Given the description of an element on the screen output the (x, y) to click on. 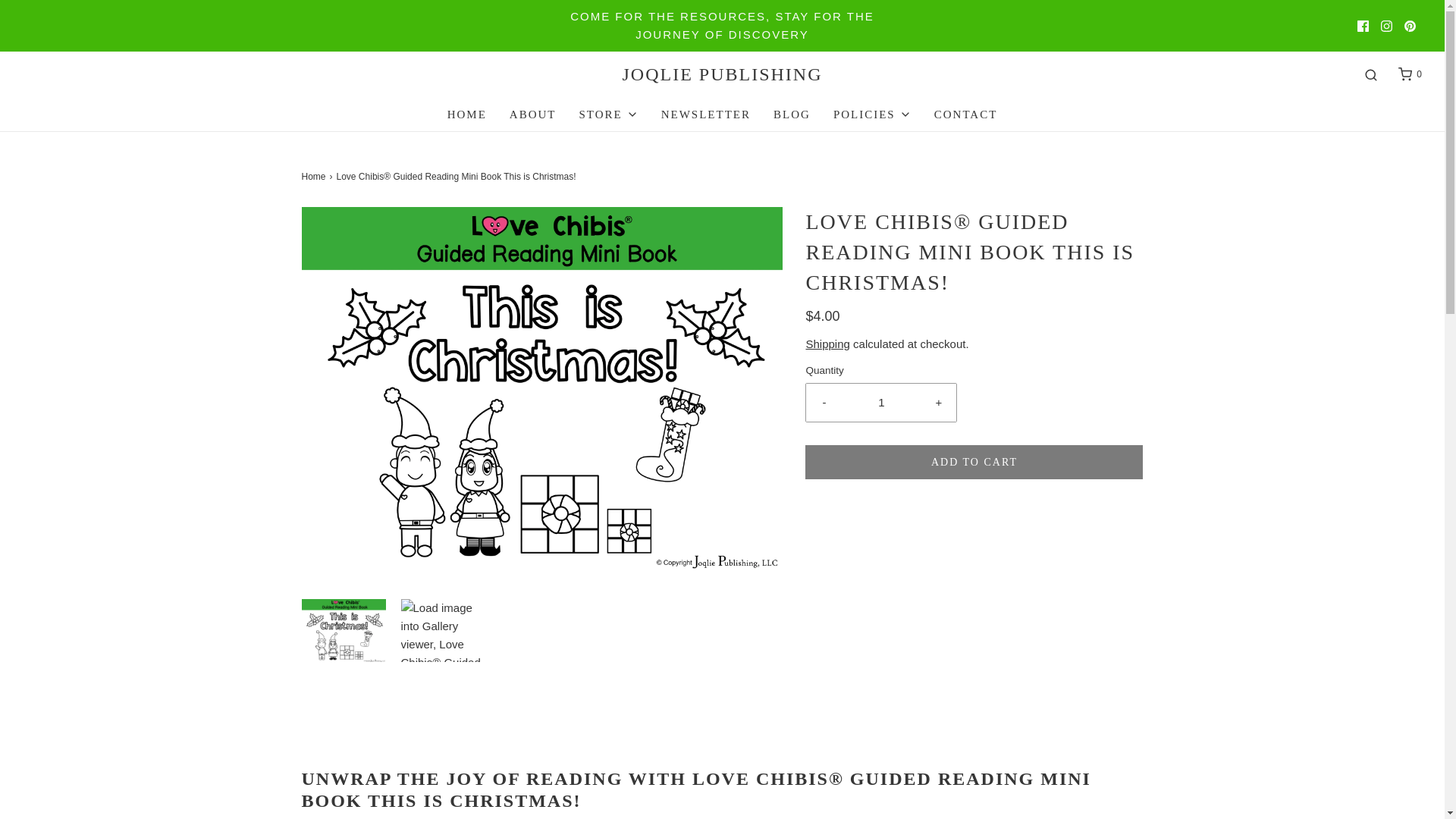
STORE (607, 114)
FACEBOOK ICON (1362, 25)
JOQLIE PUBLISHING (721, 74)
NEWSLETTER (706, 114)
BLOG (791, 114)
Back to the frontpage (315, 176)
0 (1409, 74)
HOME (466, 114)
PINTEREST ICON (1409, 24)
PINTEREST ICON (1410, 25)
1 (881, 402)
INSTAGRAM ICON (1385, 25)
INSTAGRAM ICON (1385, 24)
POLICIES (871, 114)
ABOUT (532, 114)
